Given the description of an element on the screen output the (x, y) to click on. 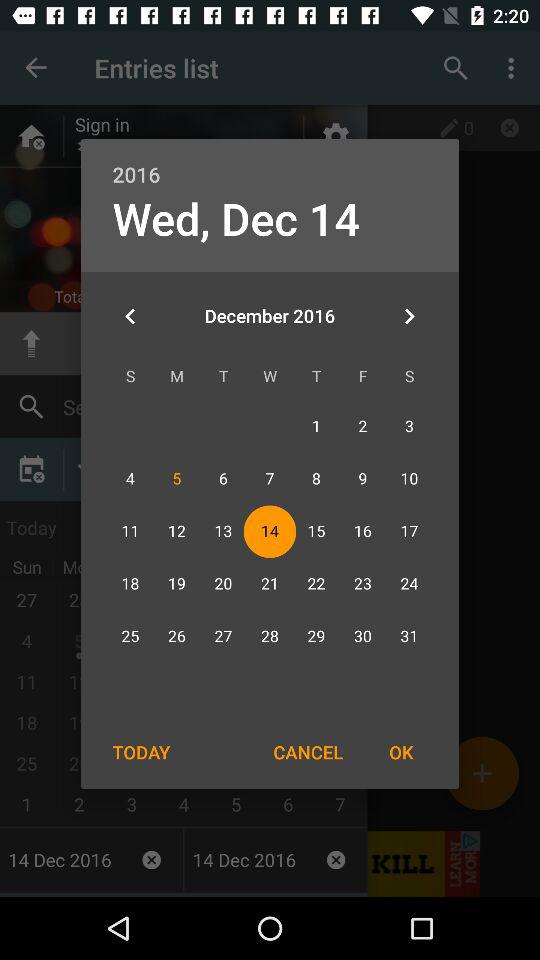
turn on the icon above the wed, dec 14 item (269, 163)
